Given the description of an element on the screen output the (x, y) to click on. 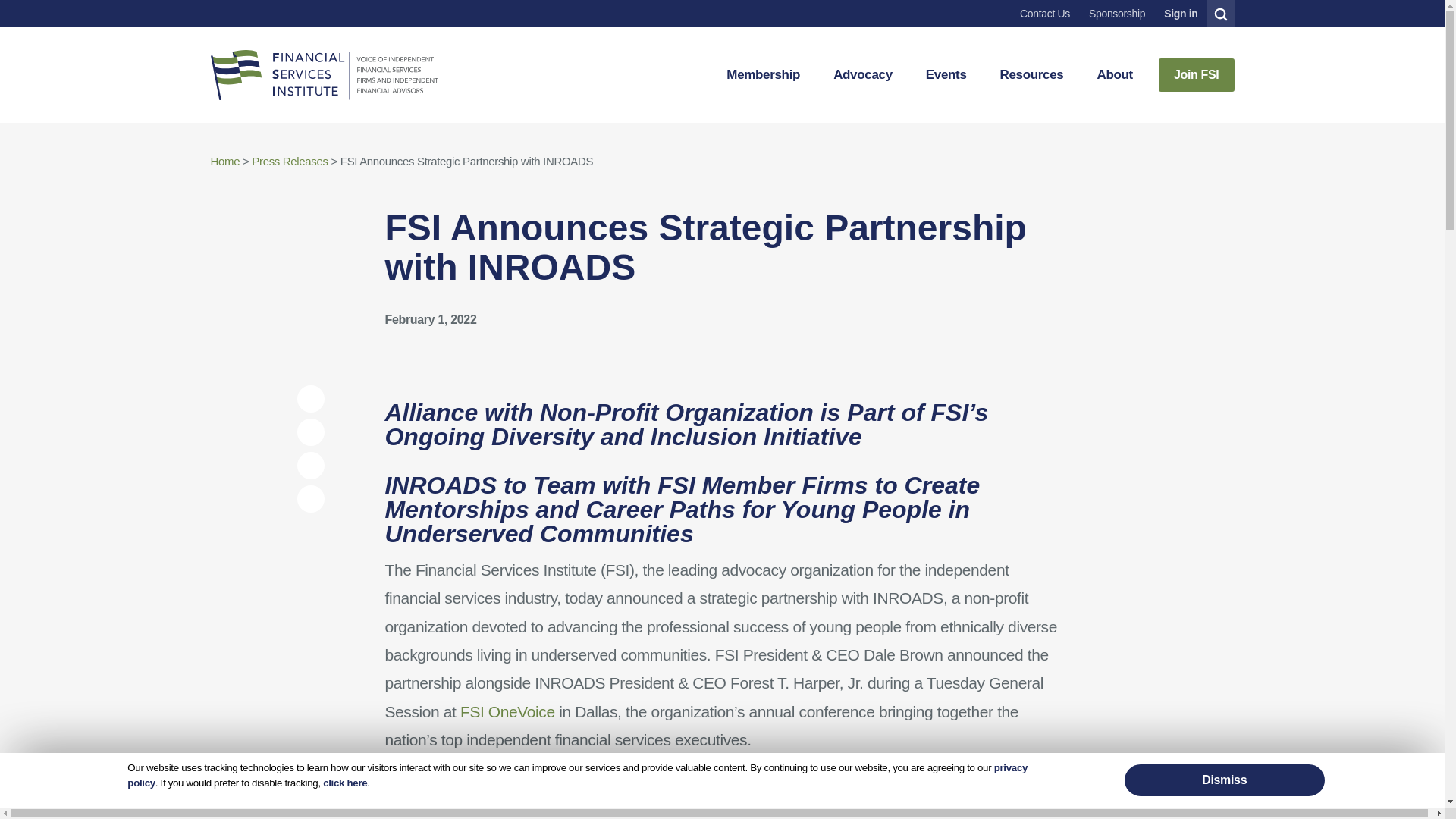
Sponsorship (1116, 13)
Advocacy (862, 74)
Membership (763, 74)
Events (945, 74)
Contact Us (1044, 13)
Resources (1032, 74)
Search Search (1220, 13)
Search (1219, 14)
Go to Financial Services Institute. (225, 160)
Home (324, 74)
